Given the description of an element on the screen output the (x, y) to click on. 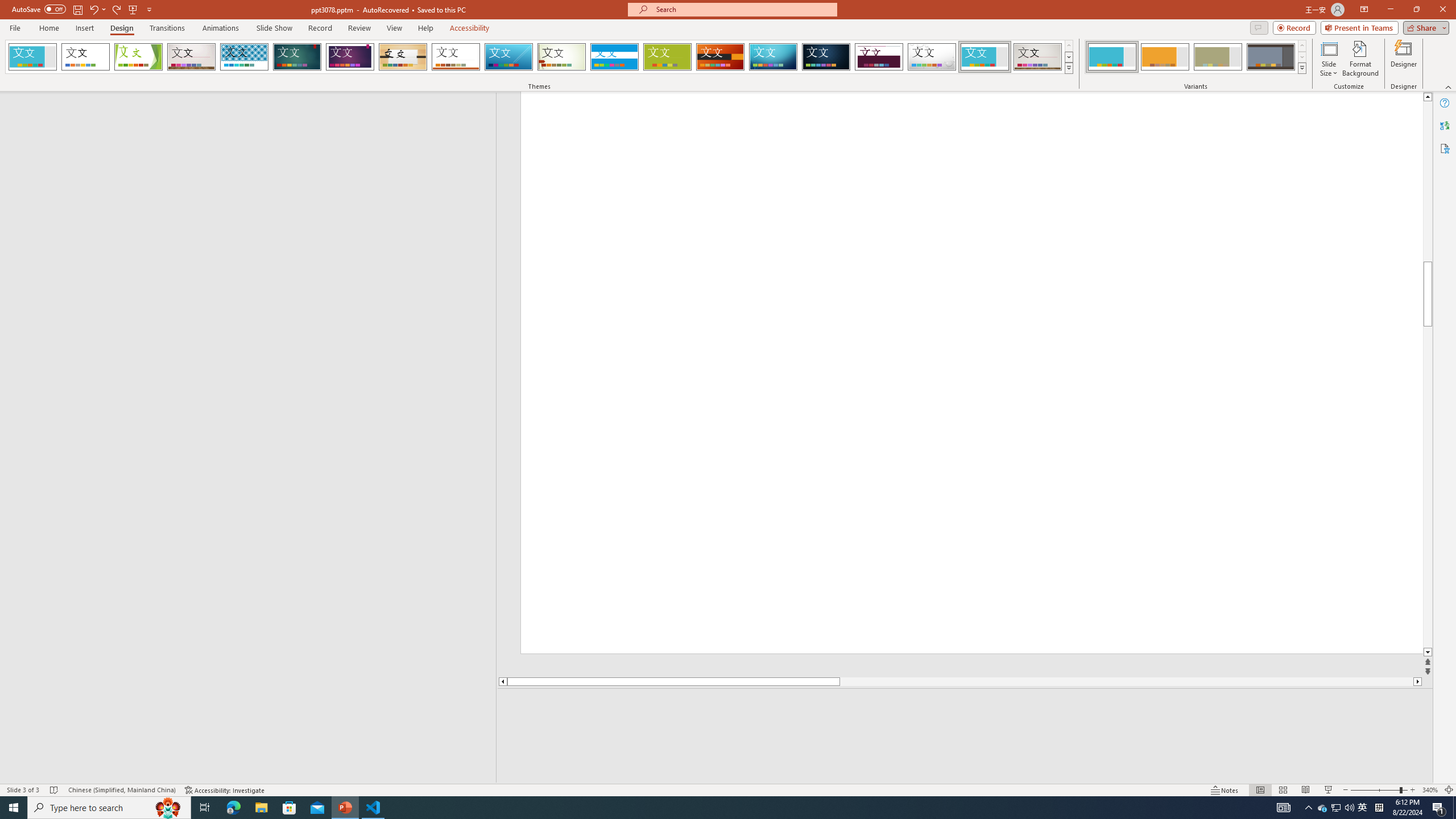
Ion Boardroom (350, 56)
Office Theme (85, 56)
Facet (138, 56)
Subtitle TextBox (957, 569)
